Given the description of an element on the screen output the (x, y) to click on. 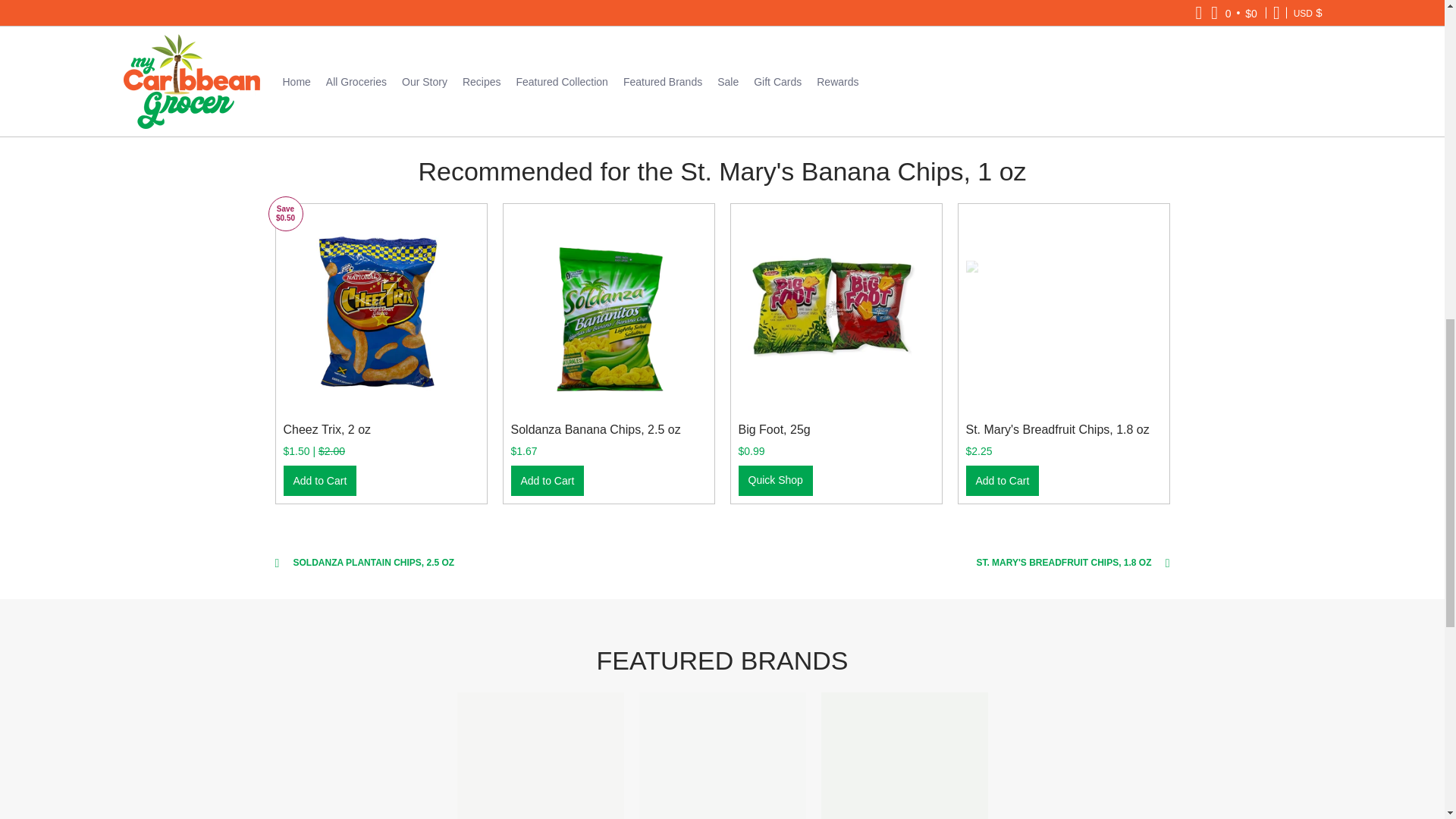
Add to Cart (319, 481)
Add to Cart (548, 481)
Add to Cart (1002, 481)
